Given the description of an element on the screen output the (x, y) to click on. 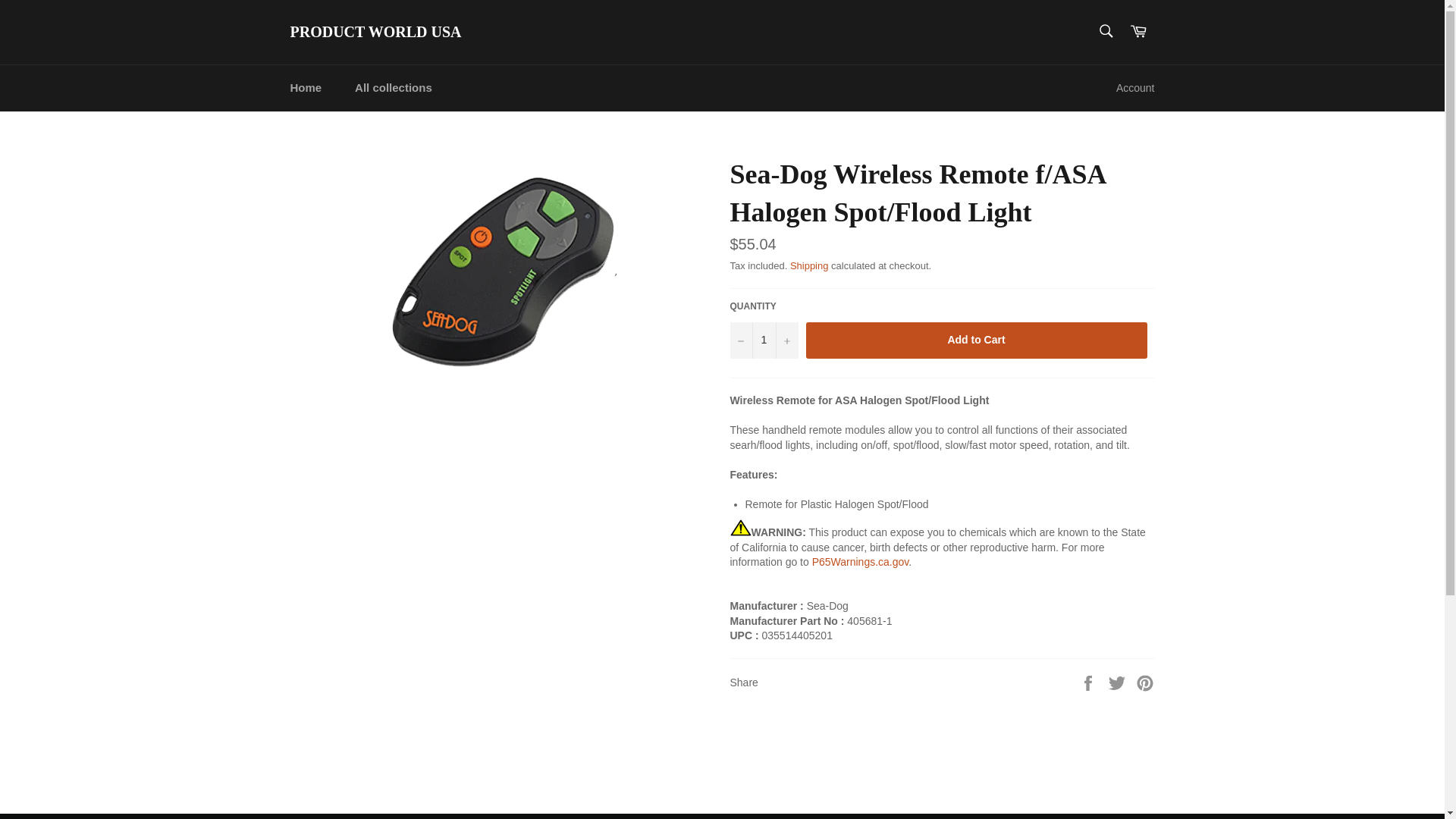
Share on Facebook (1089, 682)
Shipping (809, 265)
Tweet on Twitter (1118, 682)
Account (1134, 88)
Home (305, 88)
Pin on Pinterest (1144, 682)
Pin on Pinterest (1144, 682)
Search (1104, 30)
All collections (392, 88)
Cart (1138, 32)
Tweet on Twitter (1118, 682)
1 (763, 340)
P65Warnings.ca.gov (860, 562)
PRODUCT WORLD USA (375, 32)
Share on Facebook (1089, 682)
